Given the description of an element on the screen output the (x, y) to click on. 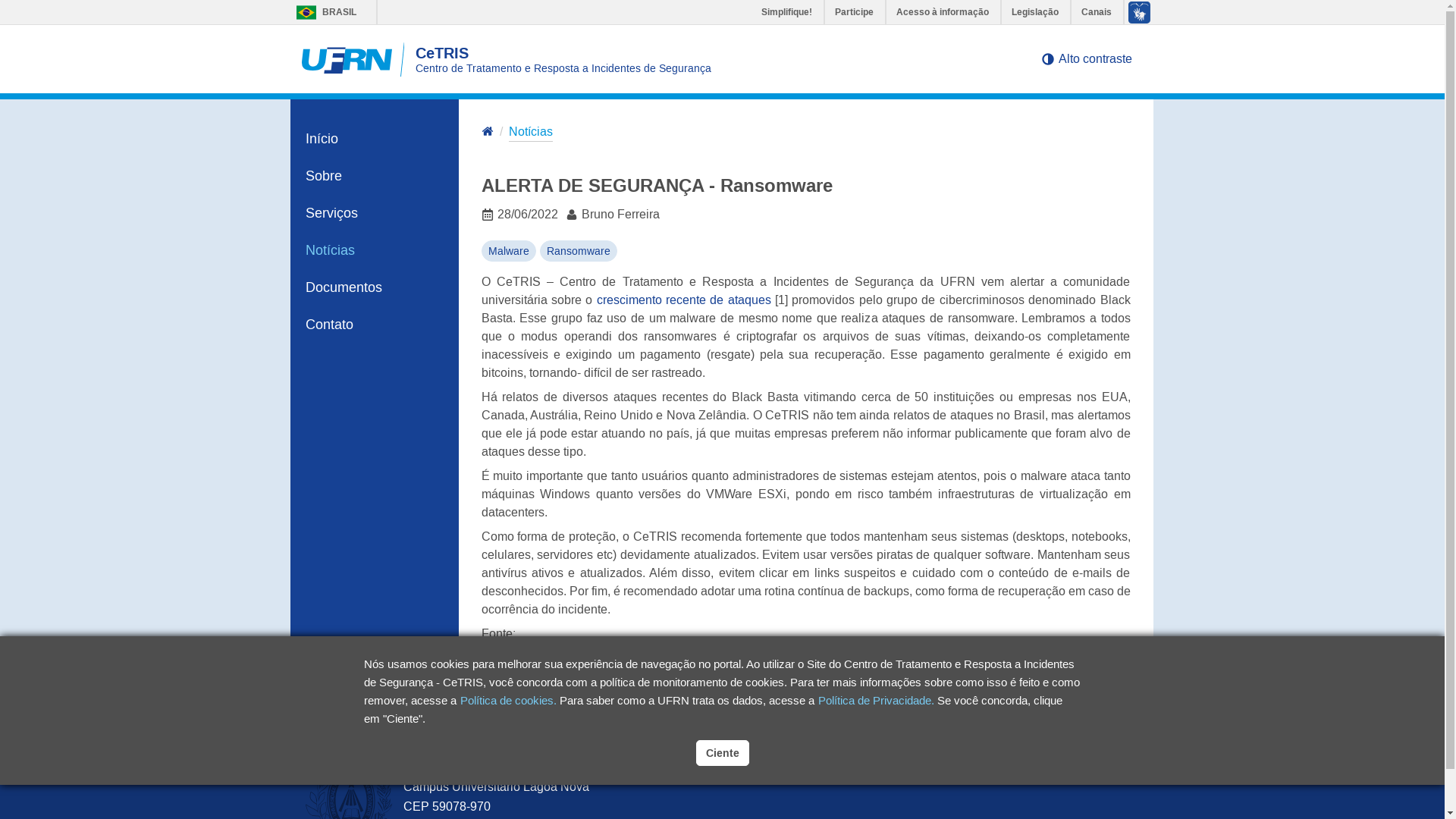
Compartilhar Element type: text (1080, 685)
Participe Element type: text (854, 11)
Alterar para o modo de contraste Element type: hover (1047, 58)
Ransomware Element type: text (578, 250)
crescimento recente de ataques Element type: text (683, 299)
BRASIL Element type: text (305, 12)
Documentos Element type: text (374, 287)
Universidade Federal do Rio Grande do Norte Element type: text (527, 765)
Sobre Element type: text (374, 175)
Malware Element type: text (507, 250)
Simplifique! Element type: text (786, 11)
Canais Element type: text (1096, 11)
Contato Element type: text (374, 324)
Ciente Element type: text (722, 752)
Alto contraste Element type: text (1085, 58)
